Given the description of an element on the screen output the (x, y) to click on. 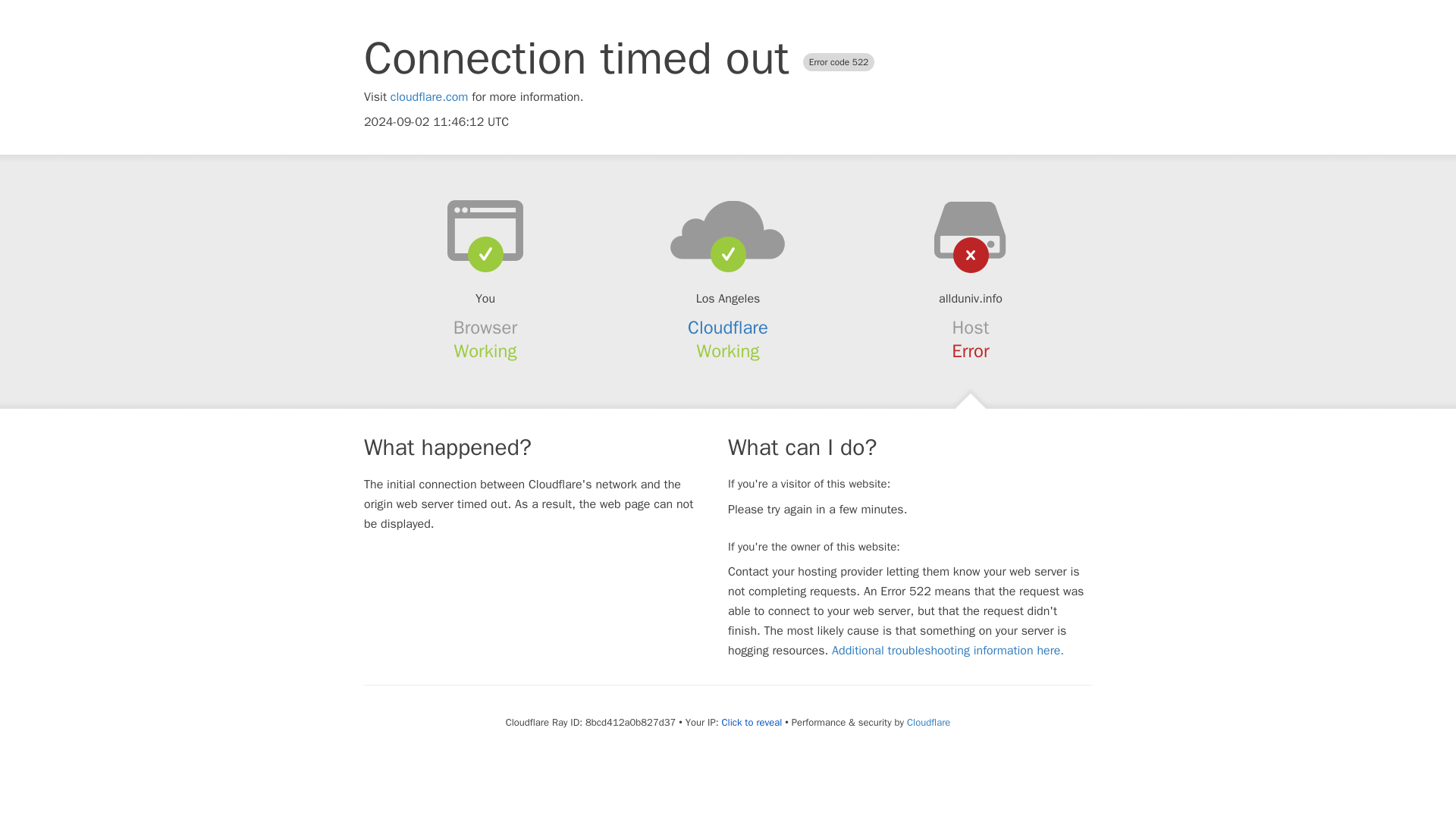
Cloudflare (727, 327)
Cloudflare (928, 721)
cloudflare.com (429, 96)
Click to reveal (750, 722)
Additional troubleshooting information here. (947, 650)
